Given the description of an element on the screen output the (x, y) to click on. 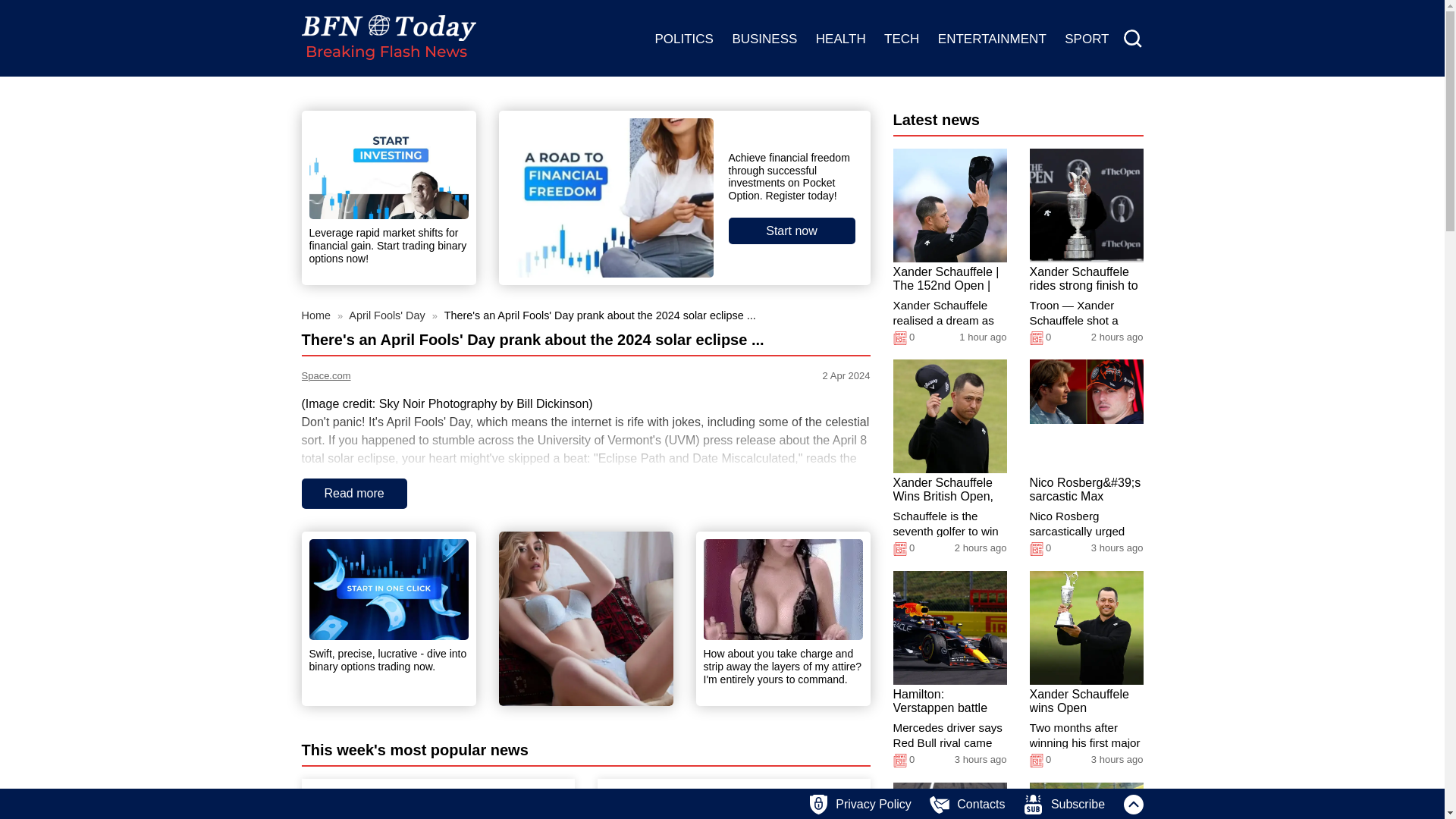
Home (317, 315)
ENTERTAINMENT (992, 39)
POLITICS (683, 39)
SPORT (1086, 39)
TECH (901, 39)
BUSINESS (764, 39)
HEALTH (840, 39)
April Fools' Day (388, 315)
Search (1133, 39)
Space.com (472, 376)
